Given the description of an element on the screen output the (x, y) to click on. 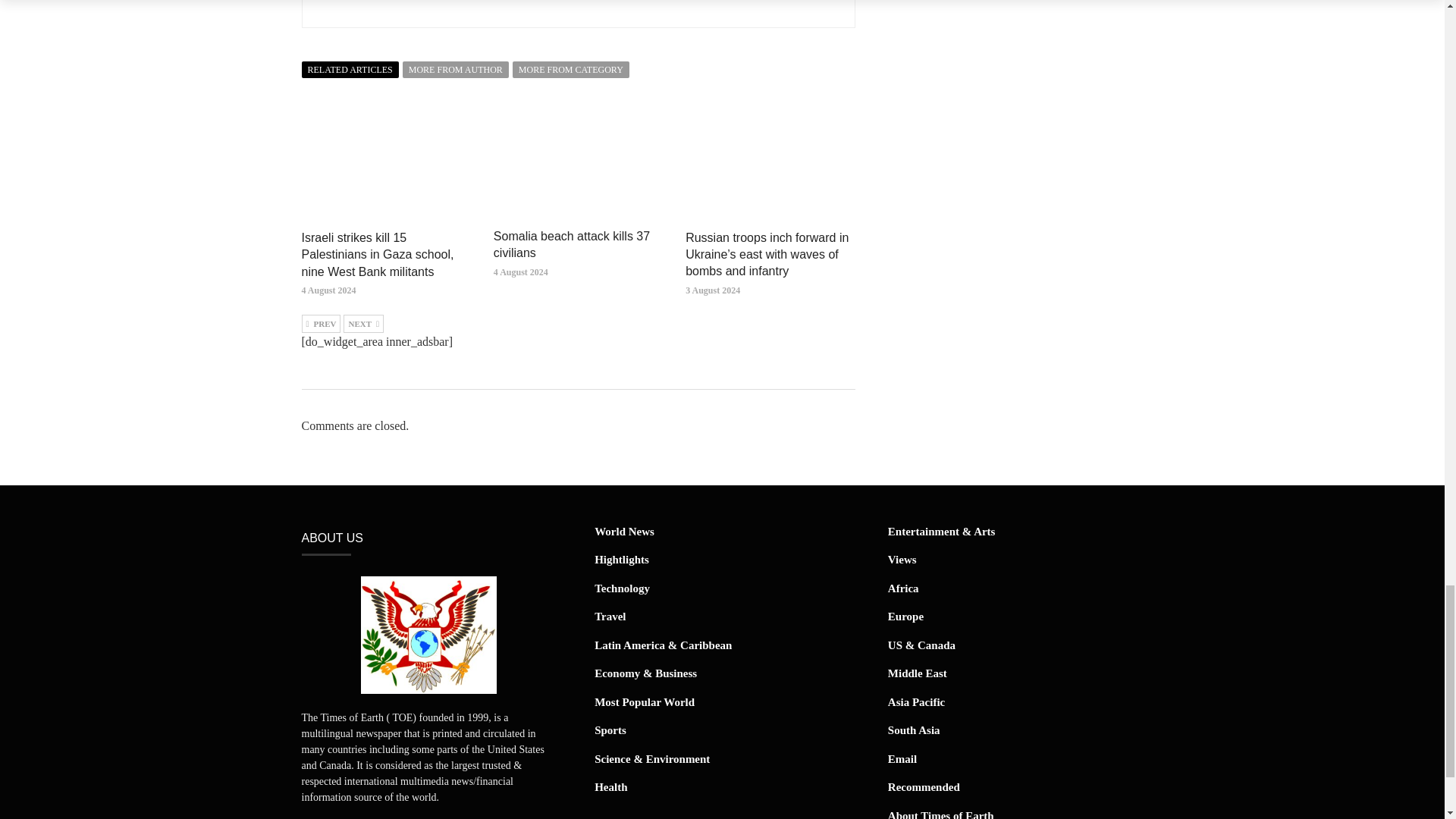
Previous (320, 323)
Next (363, 323)
